Given the description of an element on the screen output the (x, y) to click on. 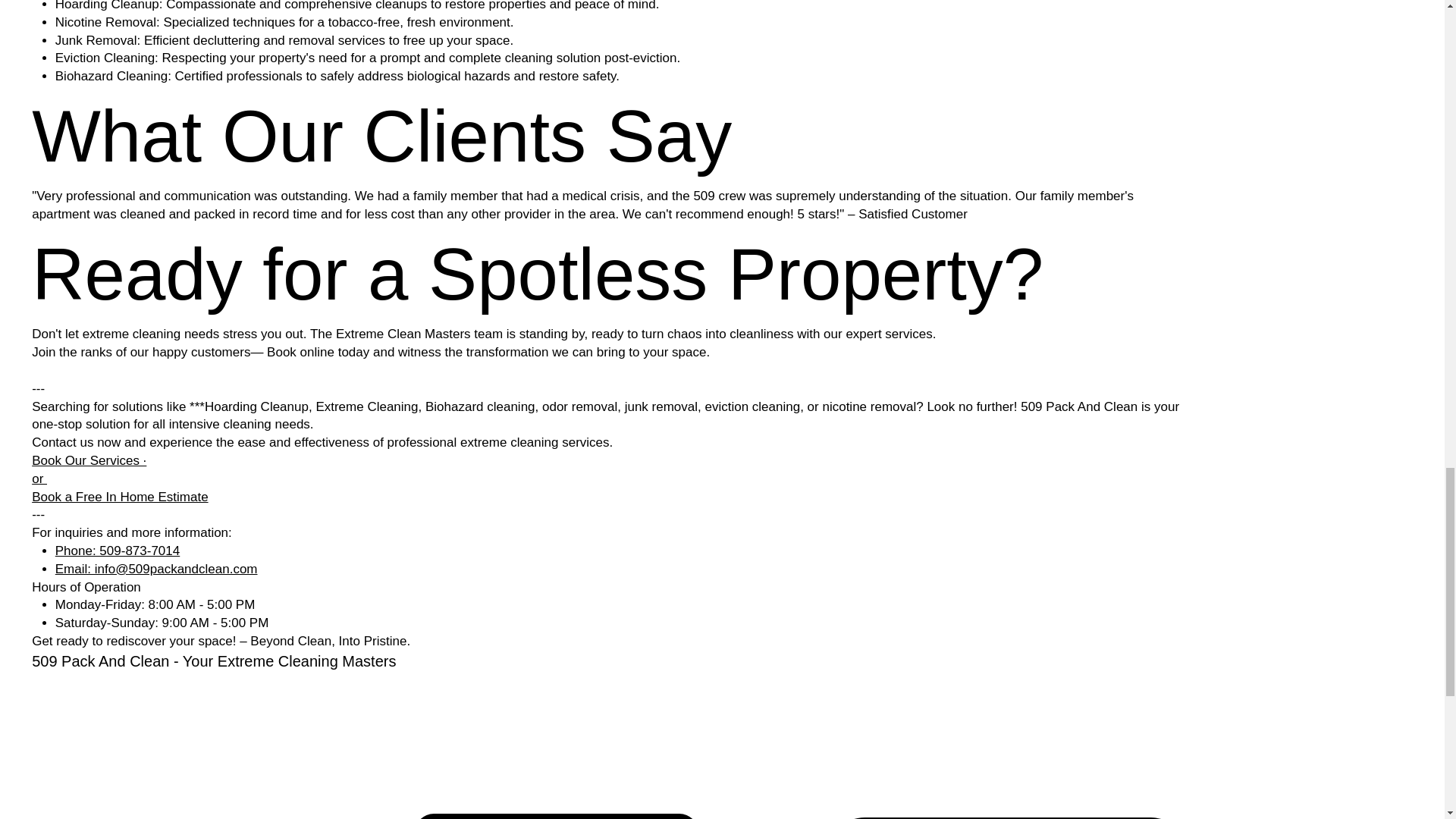
or  (39, 478)
Phone: 509-873-7014 (117, 550)
Free Quote (556, 816)
Book a Free In Home Estimate (120, 496)
